Given the description of an element on the screen output the (x, y) to click on. 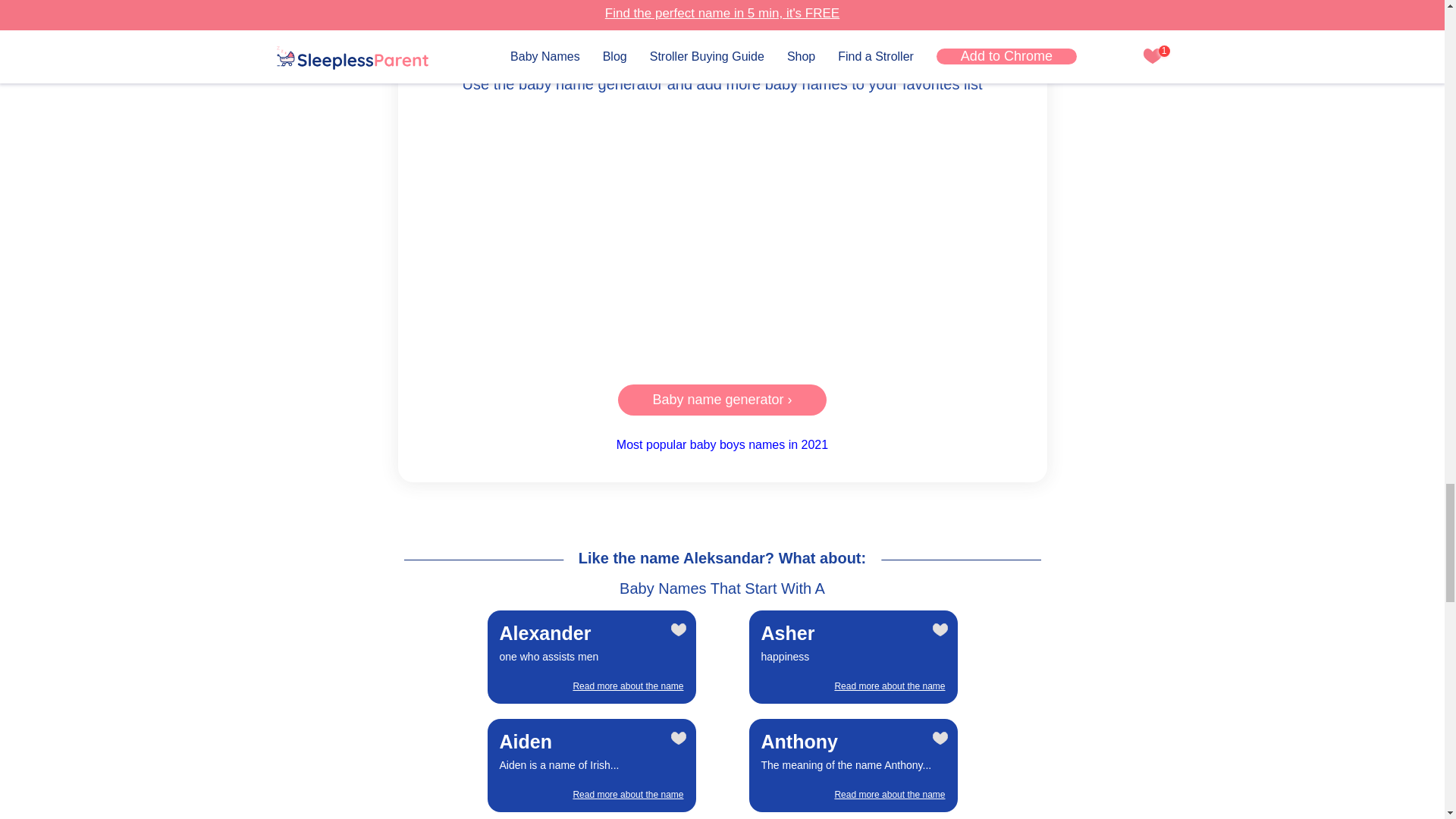
YouTube video player (591, 765)
Most popular baby boys names in 2021 (721, 235)
